Given the description of an element on the screen output the (x, y) to click on. 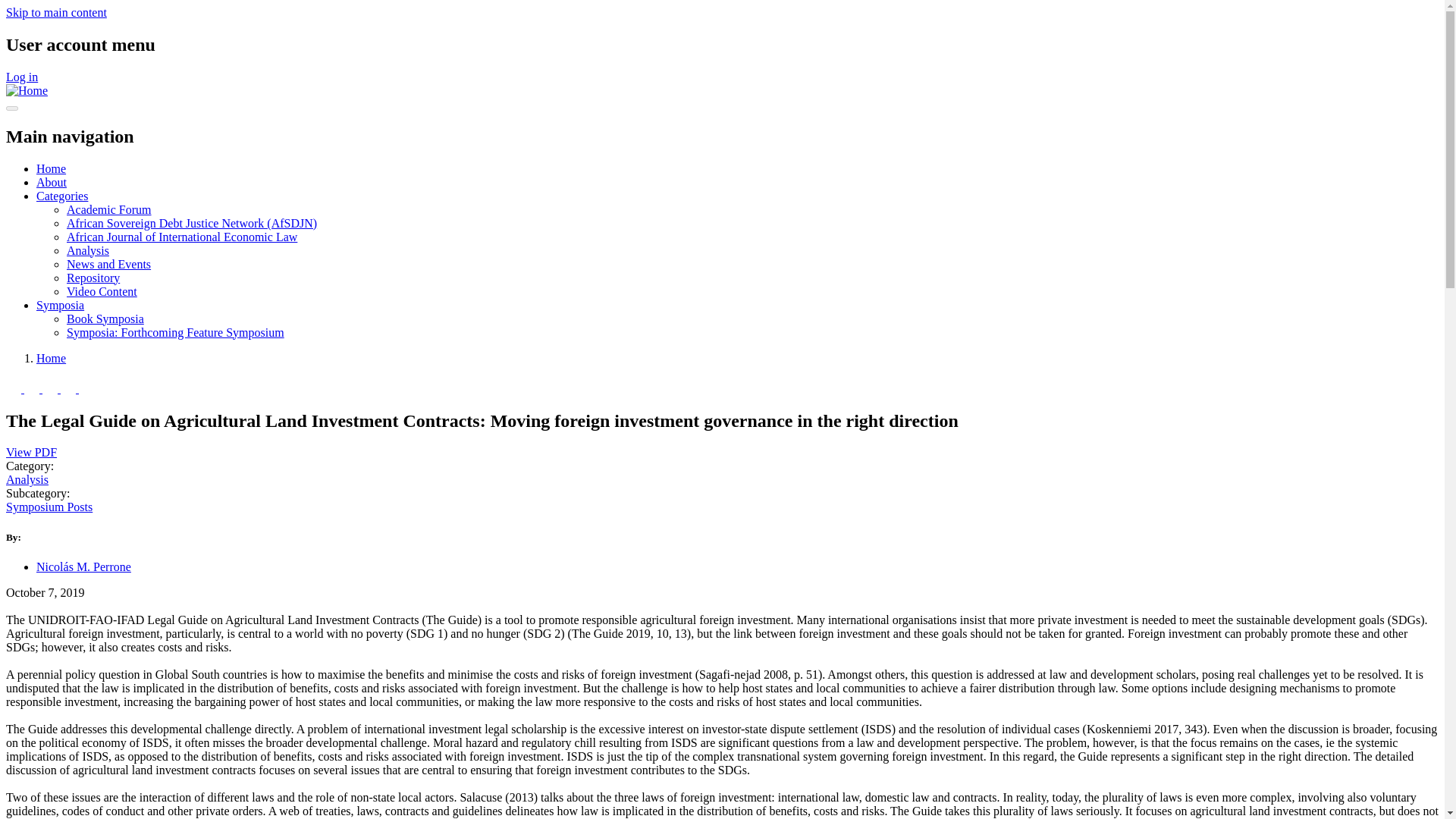
African Journal of International Economic Law (181, 236)
Repository (92, 277)
About (51, 182)
Share to Email (86, 388)
Log in (21, 76)
Academic Forum (108, 209)
Share to Facebook (14, 388)
About (51, 182)
African Journal of International Economic Law (181, 236)
View PDF (30, 451)
Video Content (101, 291)
Home (50, 358)
Home (50, 168)
Home (26, 90)
Analysis (87, 250)
